Given the description of an element on the screen output the (x, y) to click on. 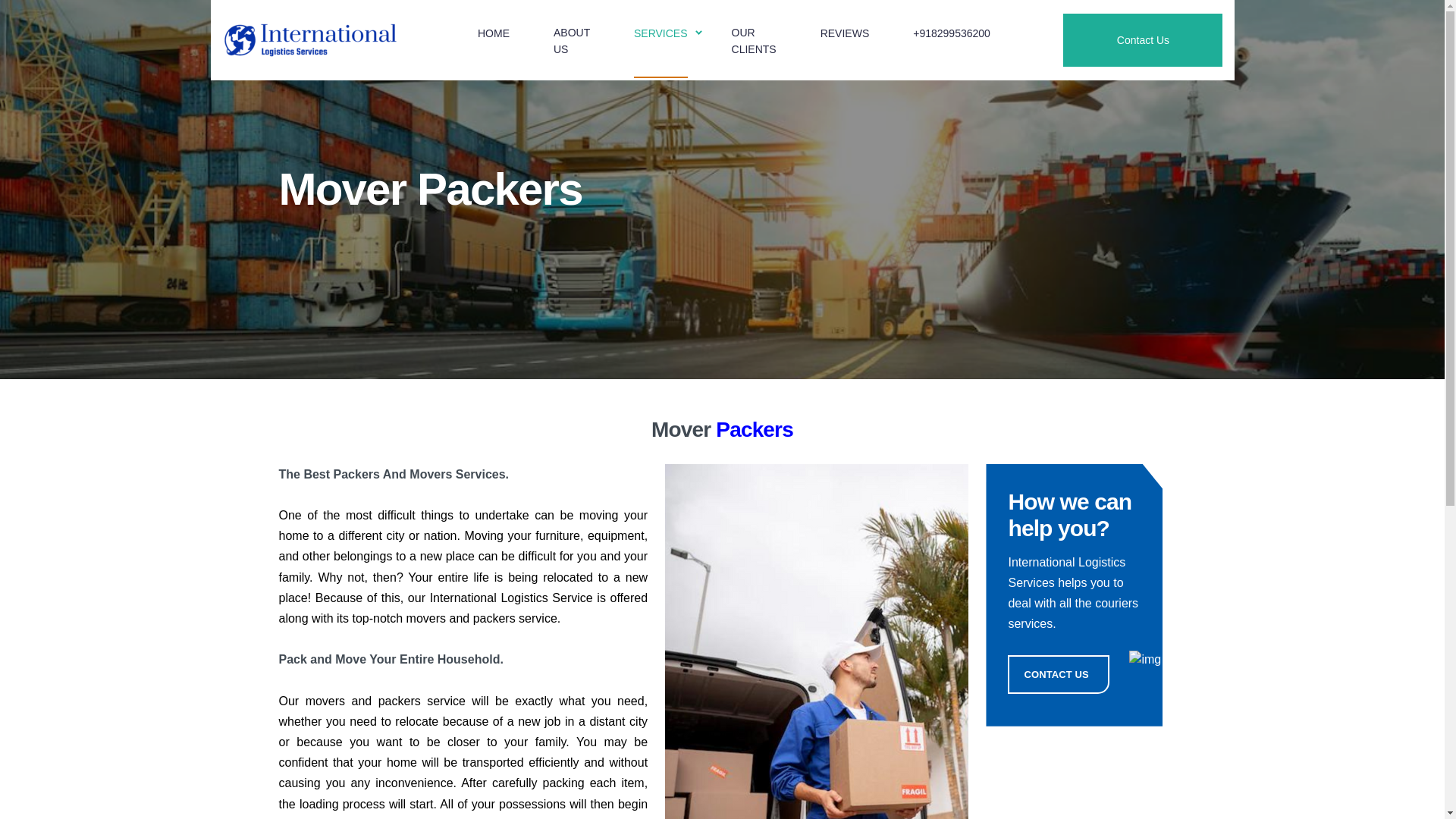
SERVICES (660, 33)
ABOUT US (571, 41)
CONTACT US (1057, 674)
OUR CLIENTS (754, 41)
Contact Us (1142, 39)
HOME (493, 33)
REVIEWS (845, 33)
